Given the description of an element on the screen output the (x, y) to click on. 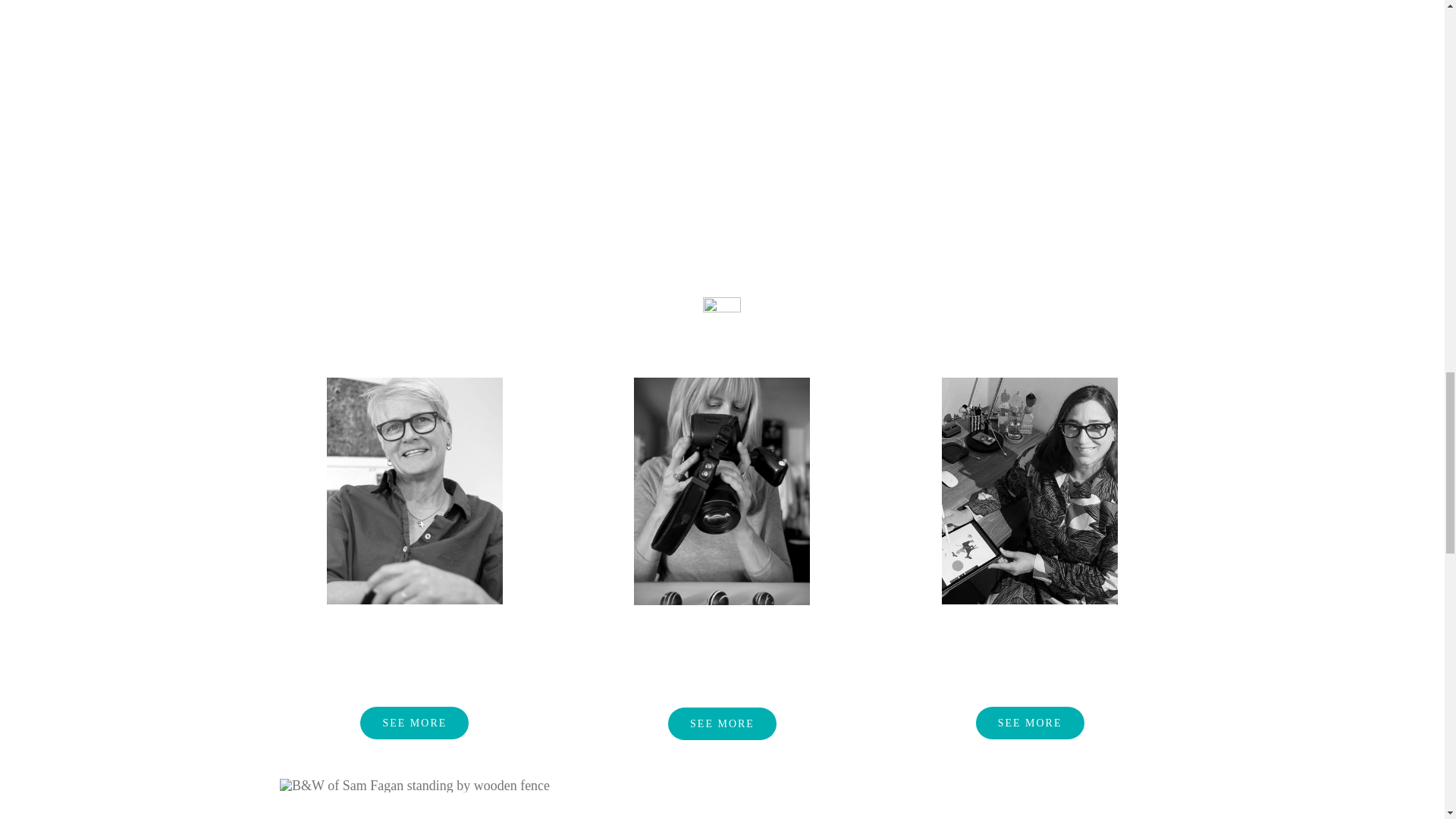
SEE MORE (722, 722)
SEE MORE (1029, 722)
SEE MORE (413, 722)
